Given the description of an element on the screen output the (x, y) to click on. 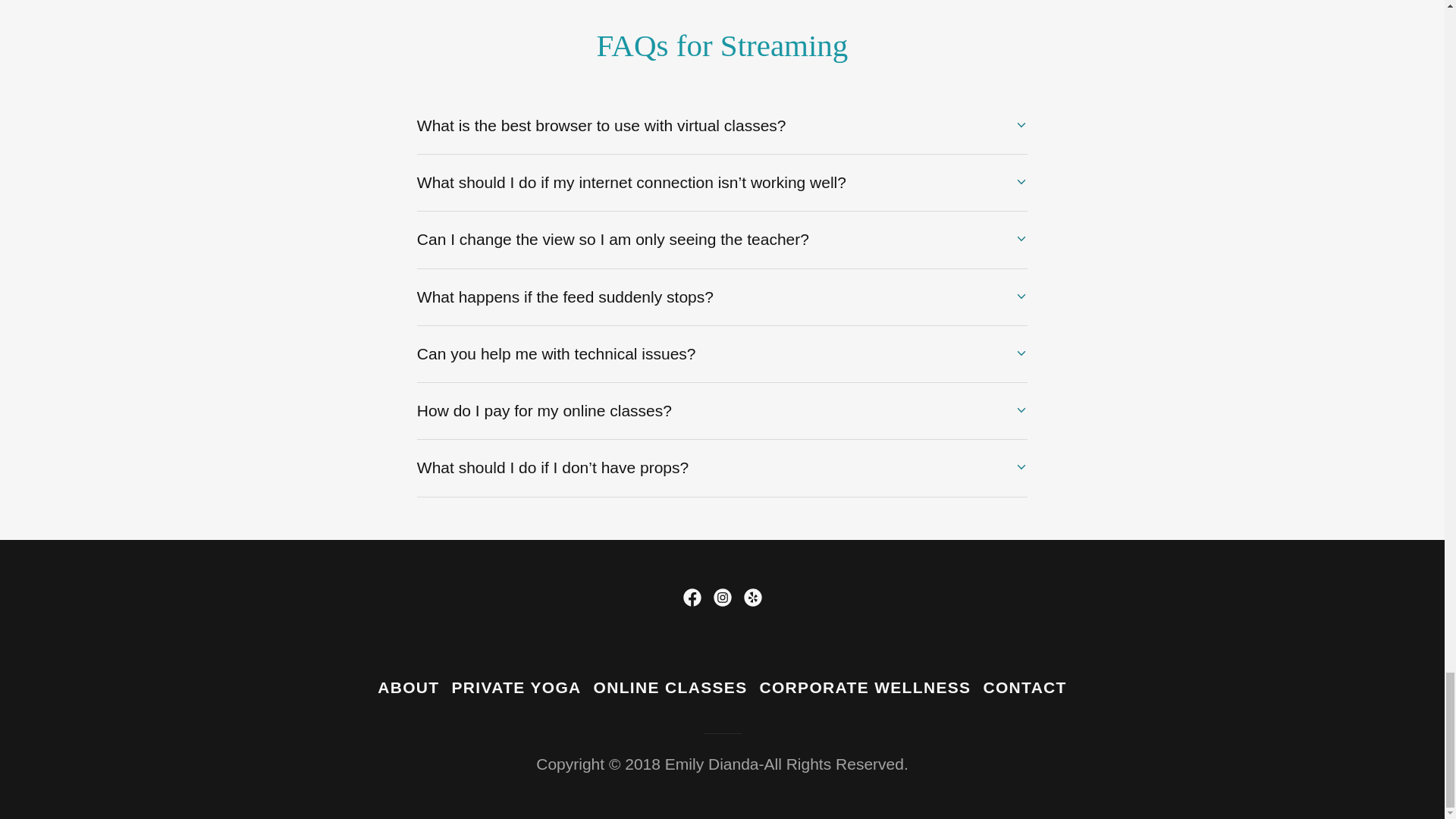
What is the best browser to use with virtual classes? (721, 125)
Can I change the view so I am only seeing the teacher? (721, 239)
